Given the description of an element on the screen output the (x, y) to click on. 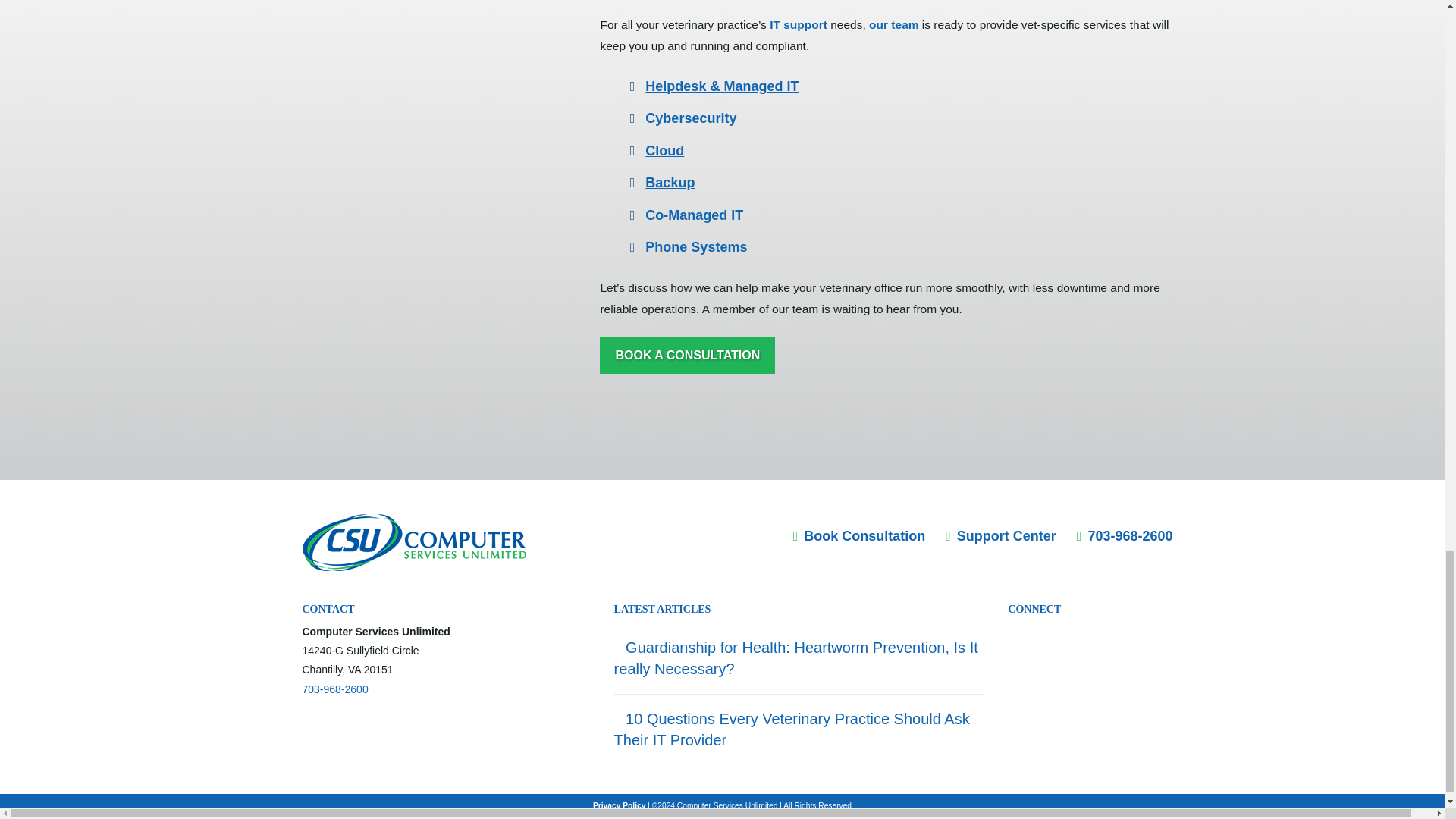
Co-Managed IT (693, 215)
703-968-2600 (1125, 535)
Backup (669, 182)
BOOK A CONSULTATION (686, 355)
Phone Systems (695, 246)
703-968-2600 (334, 689)
our team (893, 24)
IT support (798, 24)
Cloud (664, 150)
Cybersecurity (690, 118)
Book Consultation (859, 535)
Support Center (1000, 535)
